Given the description of an element on the screen output the (x, y) to click on. 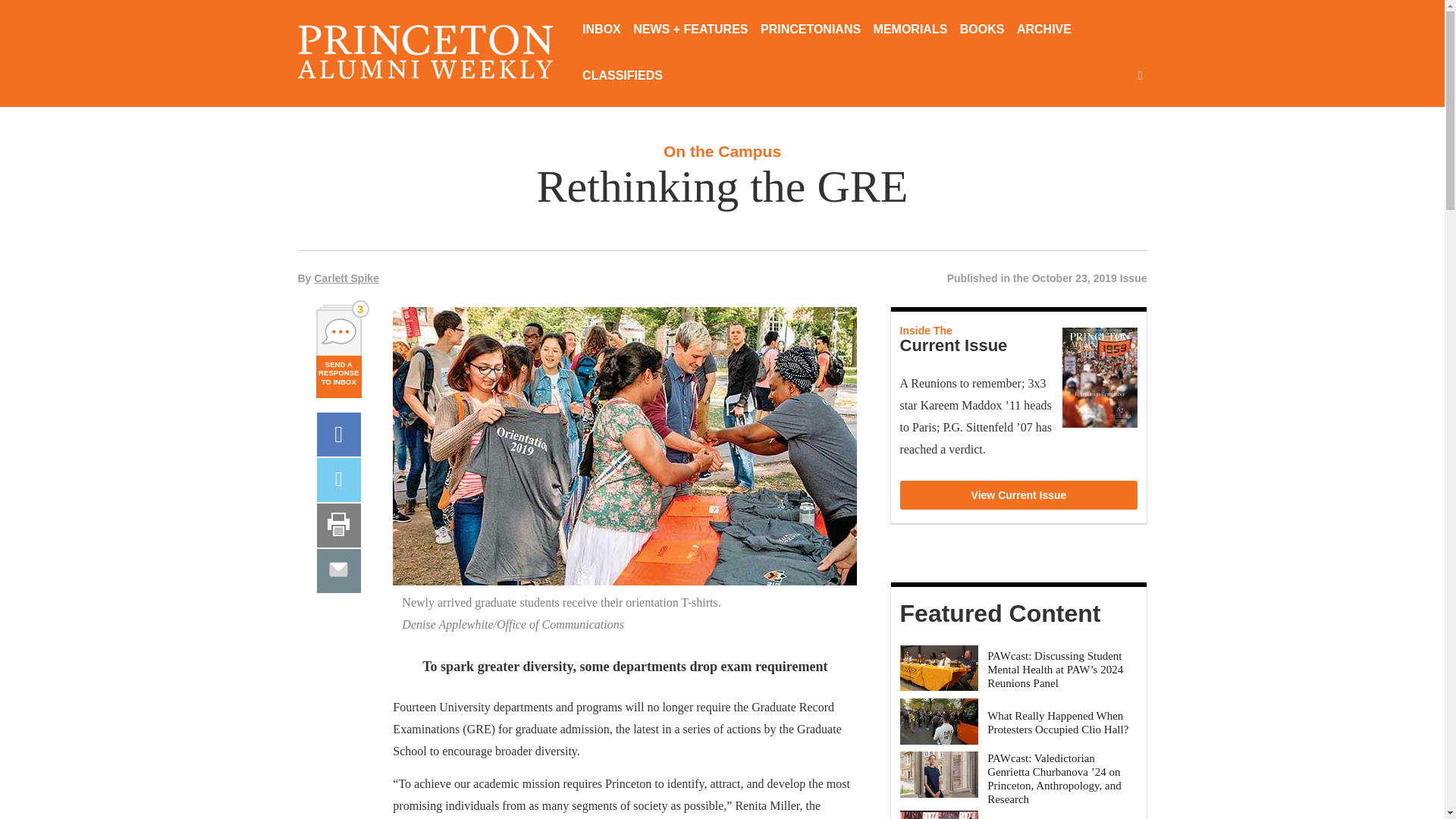
MEMORIALS (910, 30)
CLASSIFIEDS (622, 76)
Carlett Spike (346, 277)
PRINCETONIANS (809, 30)
BOOKS (982, 30)
ARCHIVE (1043, 30)
Published in the October 23, 2019 Issue (1047, 277)
INBOX (602, 30)
SEND A RESPONSE TO INBOX (338, 376)
